Given the description of an element on the screen output the (x, y) to click on. 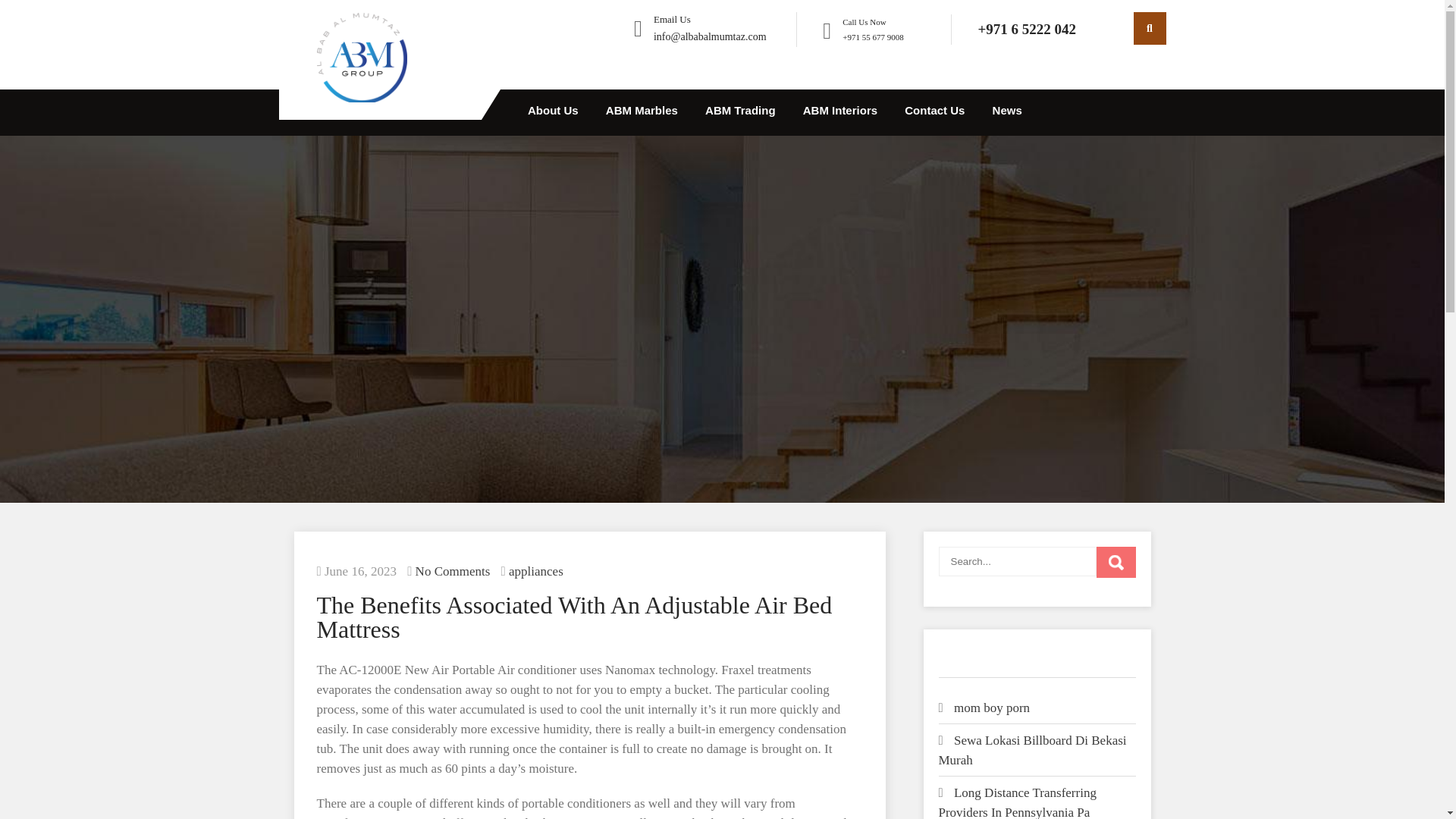
View all posts in appliances (535, 571)
mom boy porn (991, 707)
Long Distance Transferring Providers In Pennsylvania Pa (1017, 802)
Search (1115, 562)
Search (1115, 562)
ABM Interiors (839, 112)
No Comments (452, 571)
News (1006, 112)
ABM Trading (740, 112)
About Us (553, 112)
ABM Marbles (642, 112)
Search (1115, 562)
Sewa Lokasi Billboard Di Bekasi Murah (1032, 750)
